Given the description of an element on the screen output the (x, y) to click on. 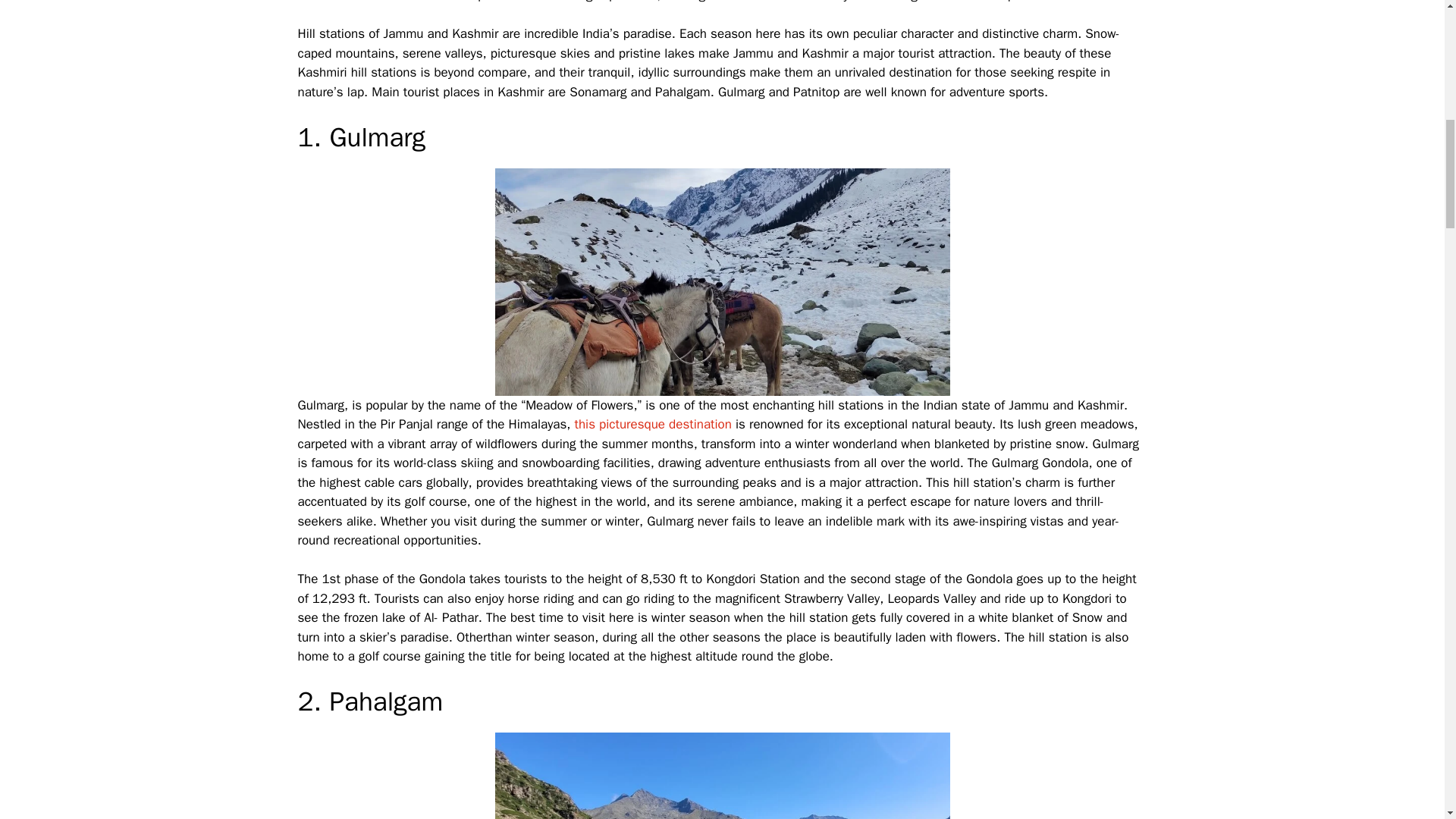
this picturesque destination (651, 424)
